Given the description of an element on the screen output the (x, y) to click on. 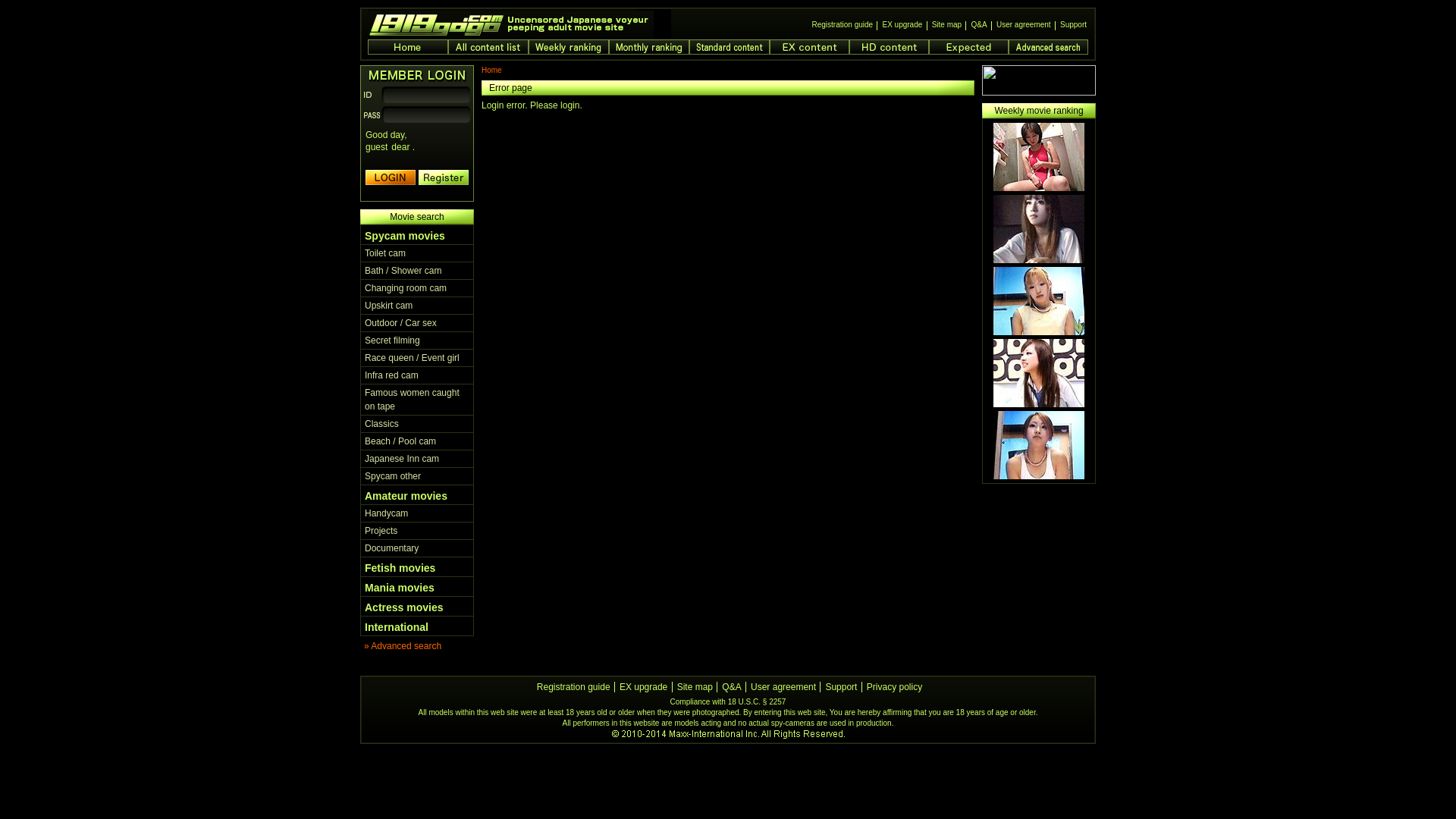
Registration guide Element type: text (573, 686)
Privacy policy Element type: text (894, 686)
Q&A Element type: text (978, 25)
Secret filming Element type: text (392, 340)
Race queen / Event girl Element type: text (411, 357)
All content list Element type: text (488, 46)
Home Element type: text (407, 46)
Spycam movies Element type: text (404, 235)
Fetish movies Element type: text (399, 567)
Monthly ranking Element type: text (648, 46)
Home Element type: text (491, 69)
EX upgrade Element type: text (643, 686)
HD content Element type: text (888, 46)
Expected Element type: text (968, 46)
Documentary Element type: text (391, 547)
Site map Element type: text (946, 25)
Upskirt cam Element type: text (388, 305)
Infra red cam Element type: text (391, 375)
Support Element type: text (1073, 25)
Toilet cam Element type: text (384, 252)
Advanced search Element type: text (1048, 46)
Classics Element type: text (381, 423)
Registration guide Element type: text (842, 25)
Site map Element type: text (694, 686)
Q&A Element type: text (730, 686)
Actress movies Element type: text (403, 607)
Projects Element type: text (380, 530)
Amateur movies Element type: text (405, 495)
Famous women caught on tape Element type: text (411, 399)
Changing room cam Element type: text (405, 287)
Normal content Element type: text (729, 46)
International Element type: text (396, 627)
Handycam Element type: text (385, 513)
Support Element type: text (840, 686)
EX content Element type: text (809, 46)
Bath / Shower cam Element type: text (402, 270)
Mania movies Element type: text (399, 587)
User agreement Element type: text (1023, 25)
Beach / Pool cam Element type: text (400, 441)
User agreement Element type: text (782, 686)
Spycam other Element type: text (392, 475)
Outdoor / Car sex Element type: text (400, 322)
EX upgrade Element type: text (901, 25)
Weekly ranking Element type: text (568, 46)
Japanese Inn cam Element type: text (401, 458)
